Given the description of an element on the screen output the (x, y) to click on. 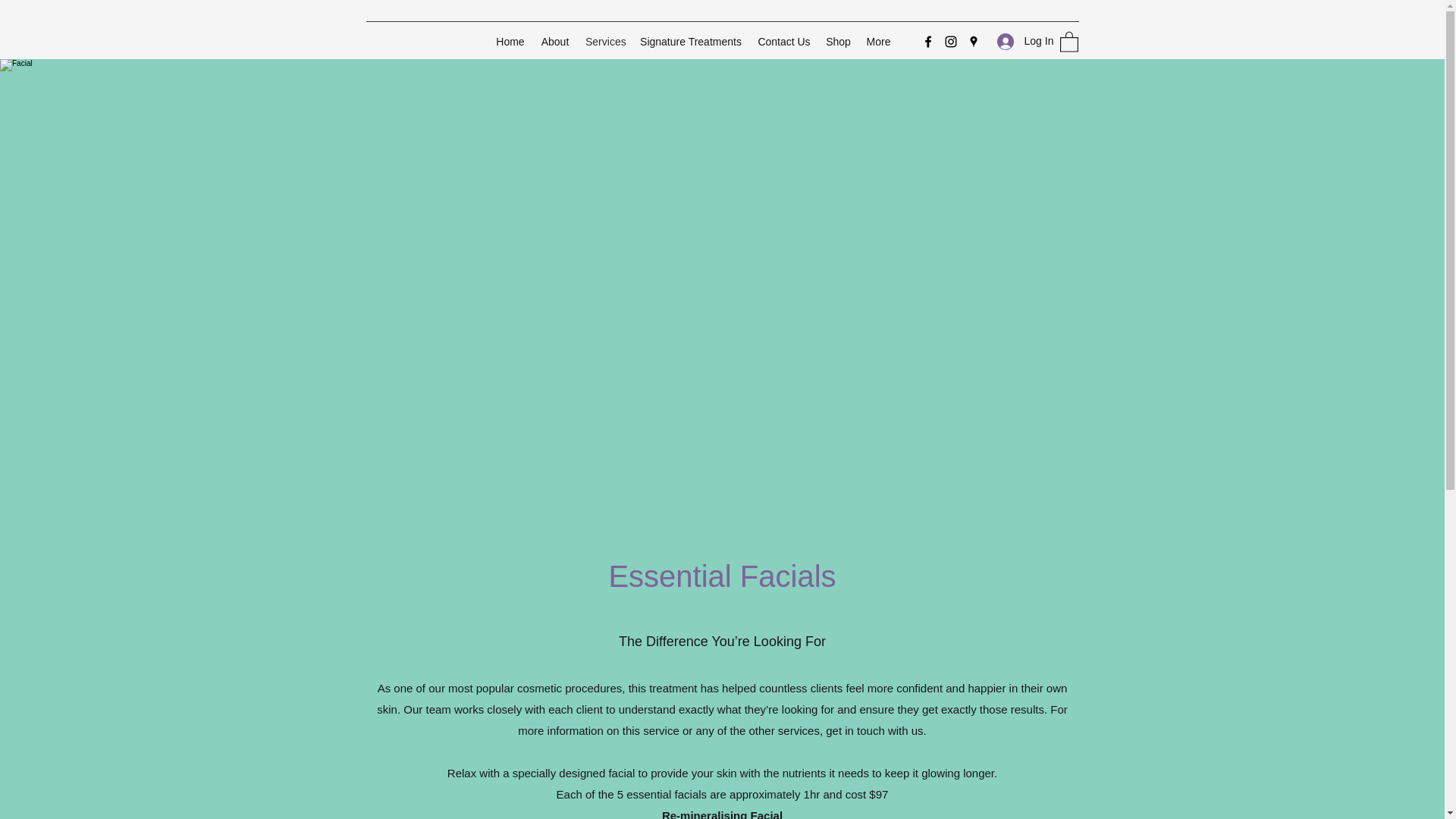
Services (604, 41)
Contact Us (783, 41)
Shop (838, 41)
Signature Treatments (690, 41)
Home (509, 41)
Log In (1019, 41)
About (555, 41)
